Given the description of an element on the screen output the (x, y) to click on. 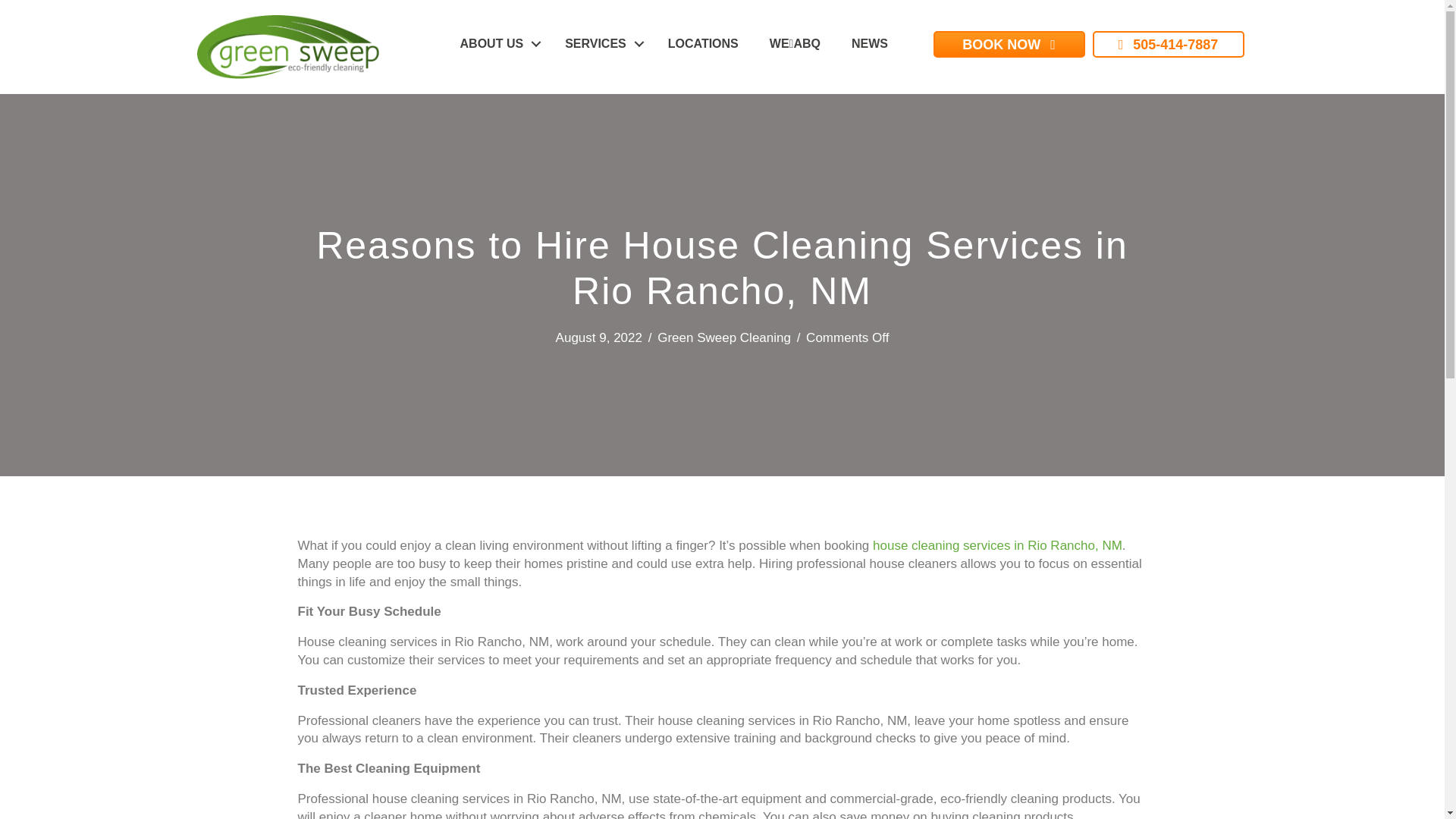
house cleaning services in Rio Rancho, NM (997, 545)
505-414-7887 (1167, 44)
greensweep-logo (287, 46)
ABOUT US (497, 43)
BOOK NOW (1008, 44)
LOCATIONS (703, 43)
SERVICES (601, 43)
NEWS (868, 43)
Services (601, 43)
About Us (497, 43)
Green Sweep Cleaning (724, 337)
